Given the description of an element on the screen output the (x, y) to click on. 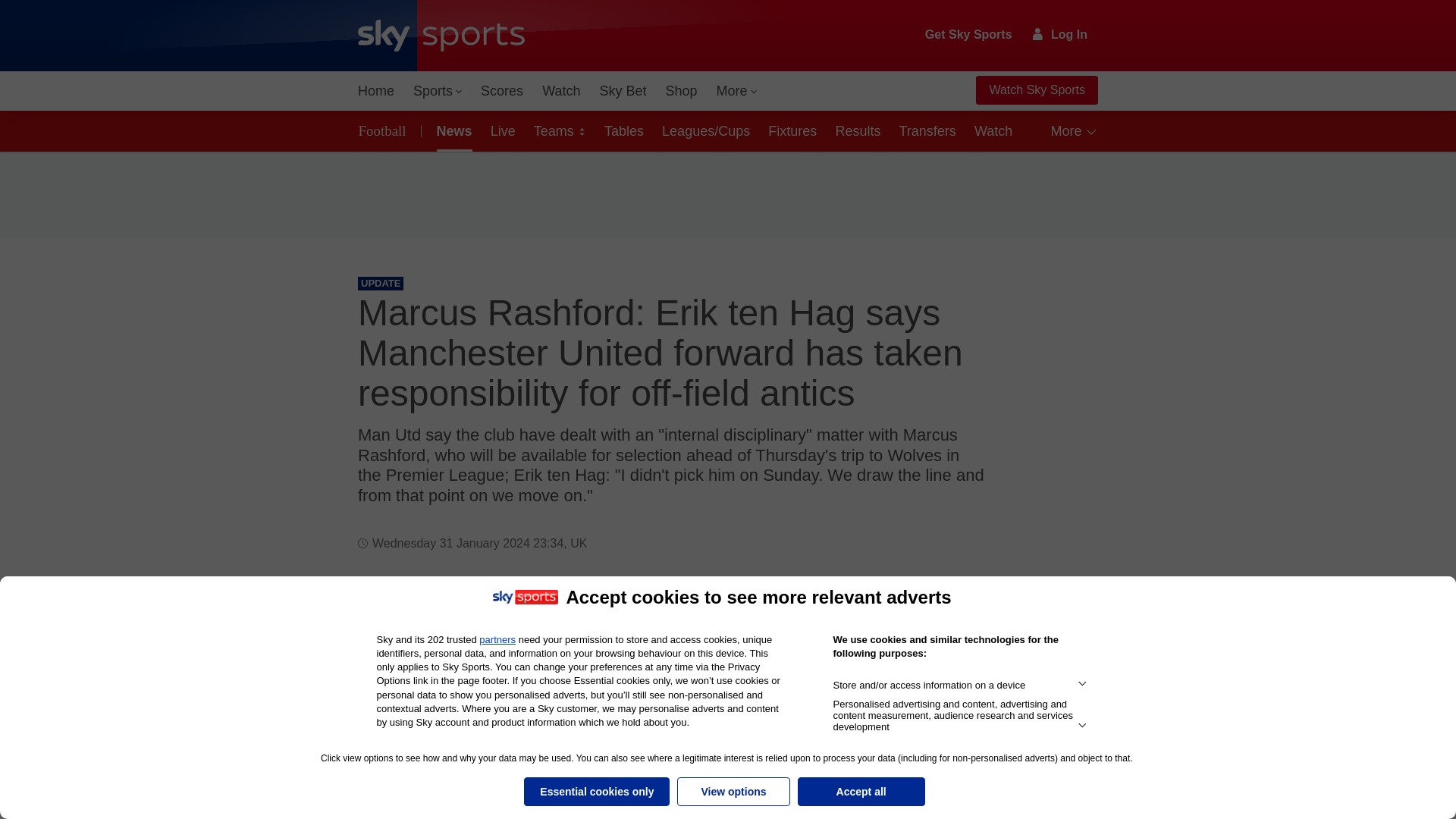
Shop (681, 91)
Log In (1060, 33)
News (451, 130)
Get Sky Sports (968, 34)
Watch (561, 91)
More (736, 91)
Football (385, 130)
Sky Bet (622, 91)
Sports (437, 91)
Watch Sky Sports (1036, 90)
